Given the description of an element on the screen output the (x, y) to click on. 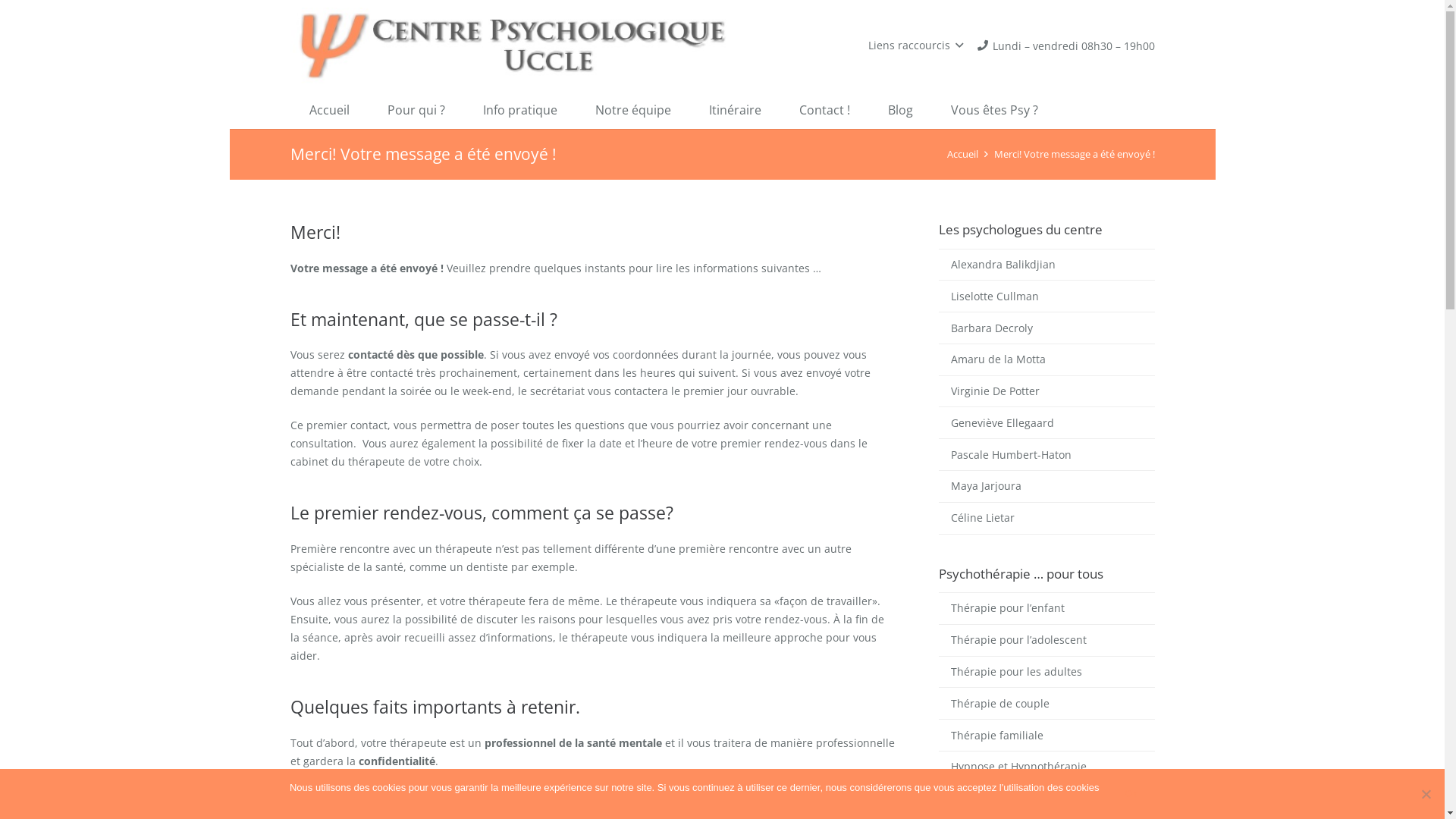
Maya Jarjoura Element type: text (1046, 486)
Ok Element type: text (1130, 793)
Pascale Humbert-Haton Element type: text (1046, 454)
Liens raccourcis Element type: text (915, 45)
Accueil Element type: text (962, 153)
Amaru de la Motta Element type: text (1046, 359)
Alexandra Balikdjian Element type: text (1046, 264)
No Element type: hover (1425, 793)
Accueil Element type: text (328, 109)
Blog Element type: text (900, 109)
Info pratique Element type: text (520, 109)
Pour qui ? Element type: text (416, 109)
Contact ! Element type: text (823, 109)
Barbara Decroly Element type: text (1046, 327)
Liselotte Cullman Element type: text (1046, 295)
Virginie De Potter Element type: text (1046, 391)
